Given the description of an element on the screen output the (x, y) to click on. 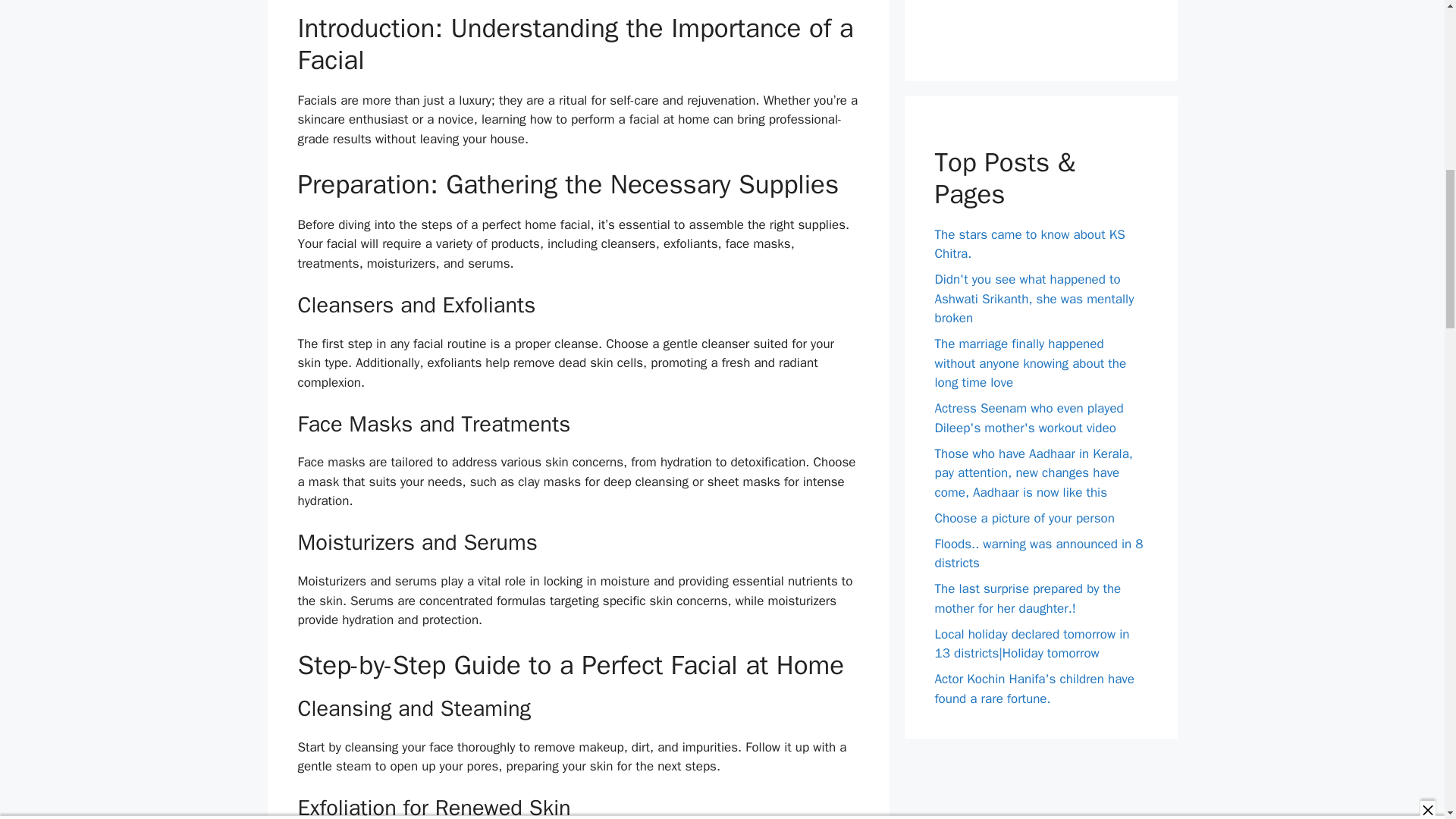
The last surprise prepared by the mother for her daughter.! (1027, 598)
Floods.. warning was announced in 8 districts (1038, 553)
Choose a picture of your person (1023, 518)
The stars came to know about KS Chitra. (1029, 244)
Actor Kochin Hanifa's children have found a rare fortune. (1034, 688)
